Given the description of an element on the screen output the (x, y) to click on. 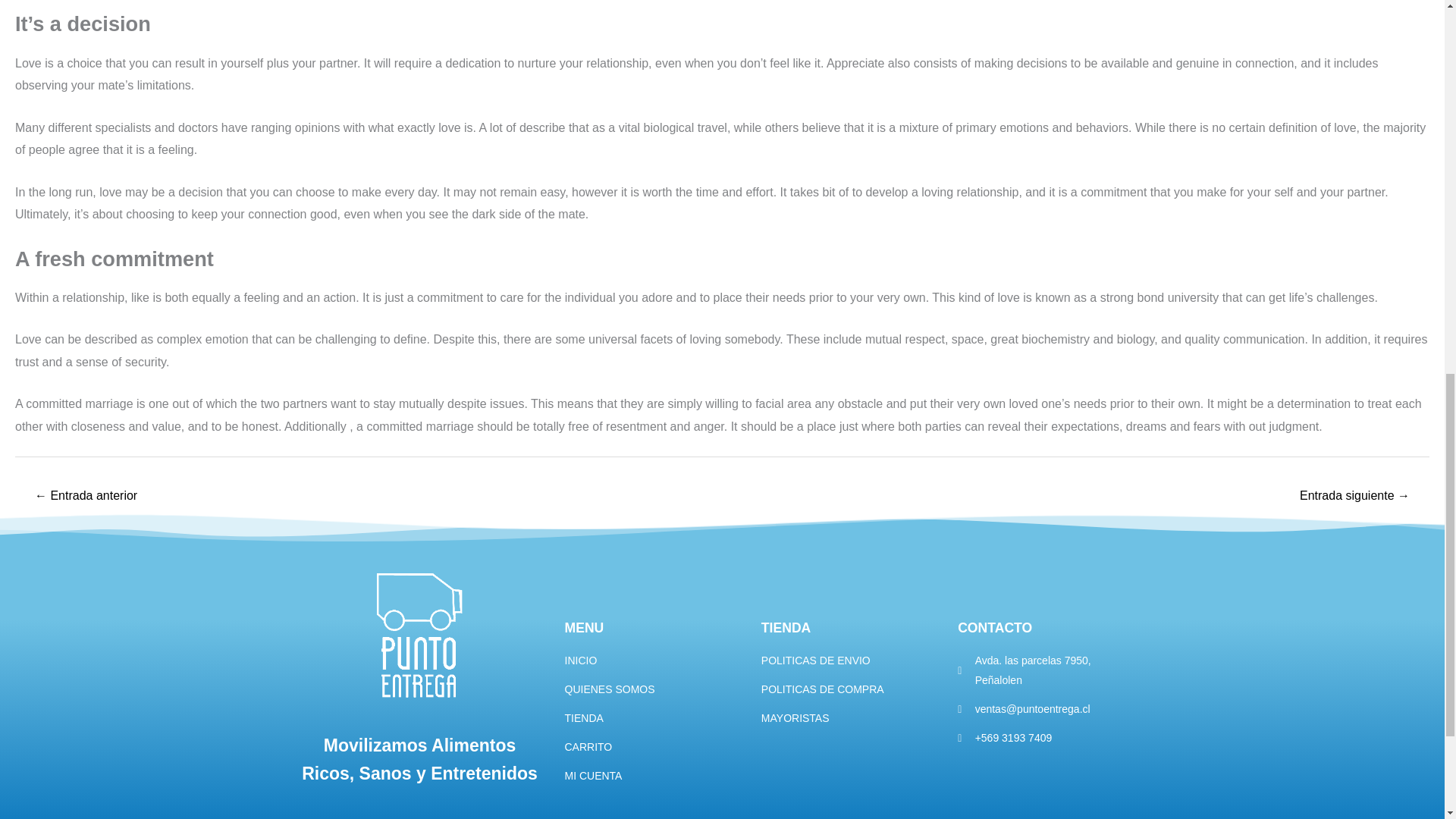
TIENDA (654, 718)
CARRITO (654, 747)
QUIENES SOMOS (654, 690)
INICIO (654, 660)
As to why Be in a Relationship? (85, 497)
POLITICAS DE COMPRA (851, 690)
POLITICAS DE ENVIO (851, 660)
MAYORISTAS (851, 718)
MI CUENTA (654, 776)
Kingcasino Bonuses sakura fortune rtp (1354, 497)
